Given the description of an element on the screen output the (x, y) to click on. 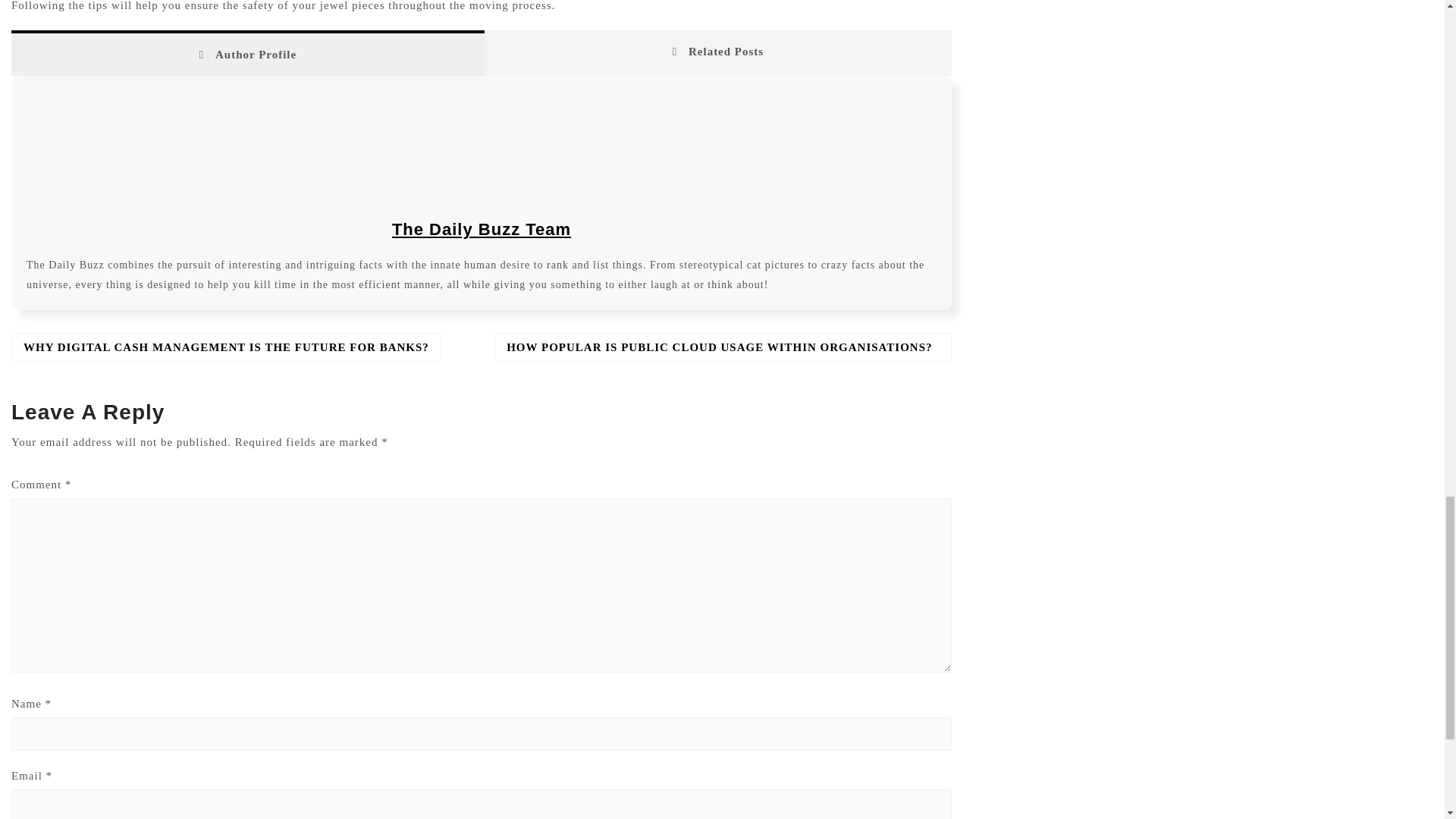
The Daily Buzz Team (480, 229)
WHY DIGITAL CASH MANAGEMENT IS THE FUTURE FOR BANKS? (226, 346)
HOW POPULAR IS PUBLIC CLOUD USAGE WITHIN ORGANISATIONS?   (723, 346)
